Given the description of an element on the screen output the (x, y) to click on. 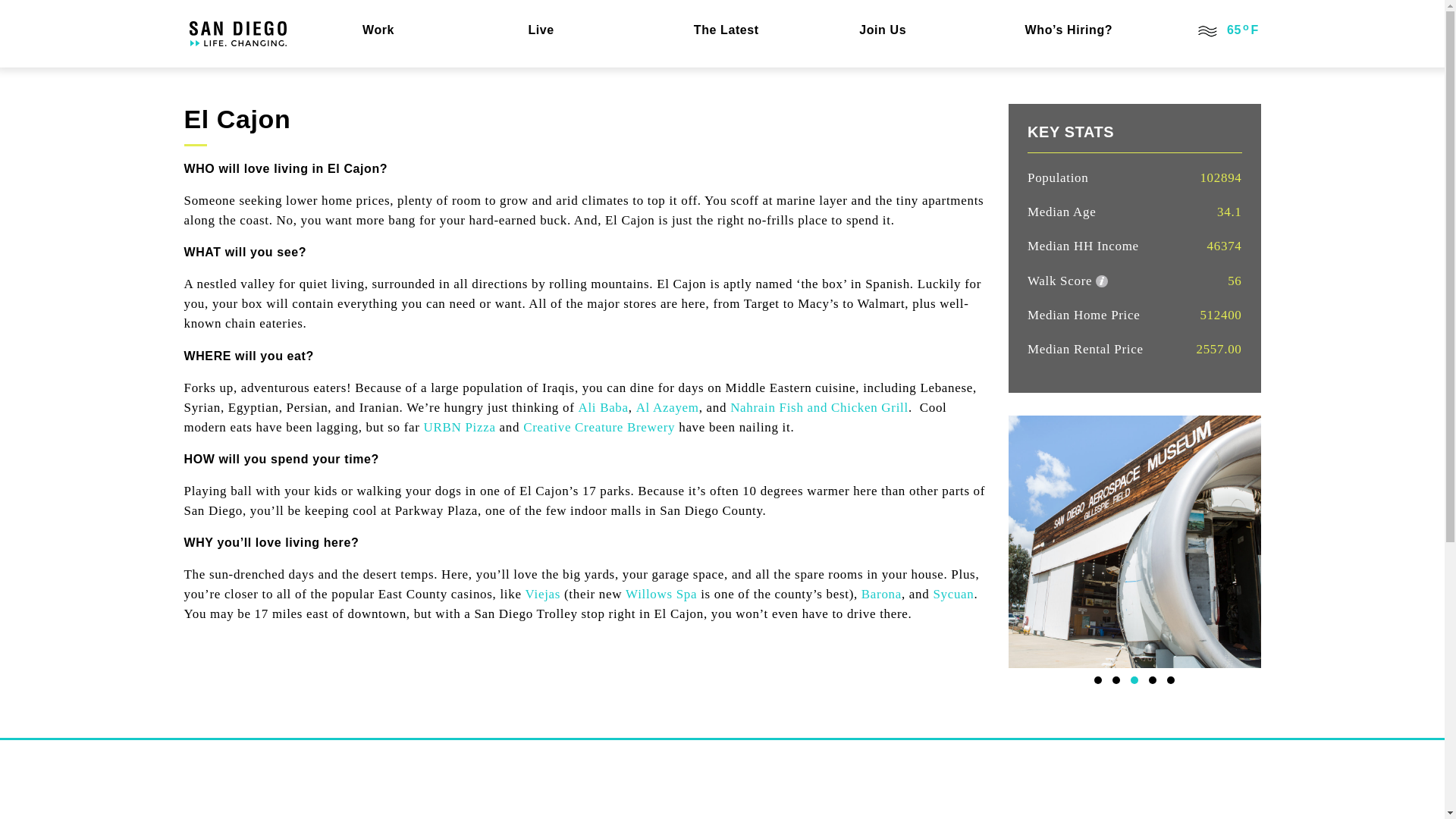
Nahrain Fish and Chicken Grill (819, 407)
Creative Creature Brewery (598, 427)
URBN Pizza (459, 427)
San Diego: Life. Changing. (237, 33)
Al Azayem (667, 407)
Sycuan (953, 594)
Work (423, 30)
Ali Baba (602, 407)
Viejas (542, 594)
The Latest (753, 30)
Willows Spa (661, 594)
Barona (881, 594)
Live (588, 30)
65 F (1226, 30)
Join Us (918, 30)
